Given the description of an element on the screen output the (x, y) to click on. 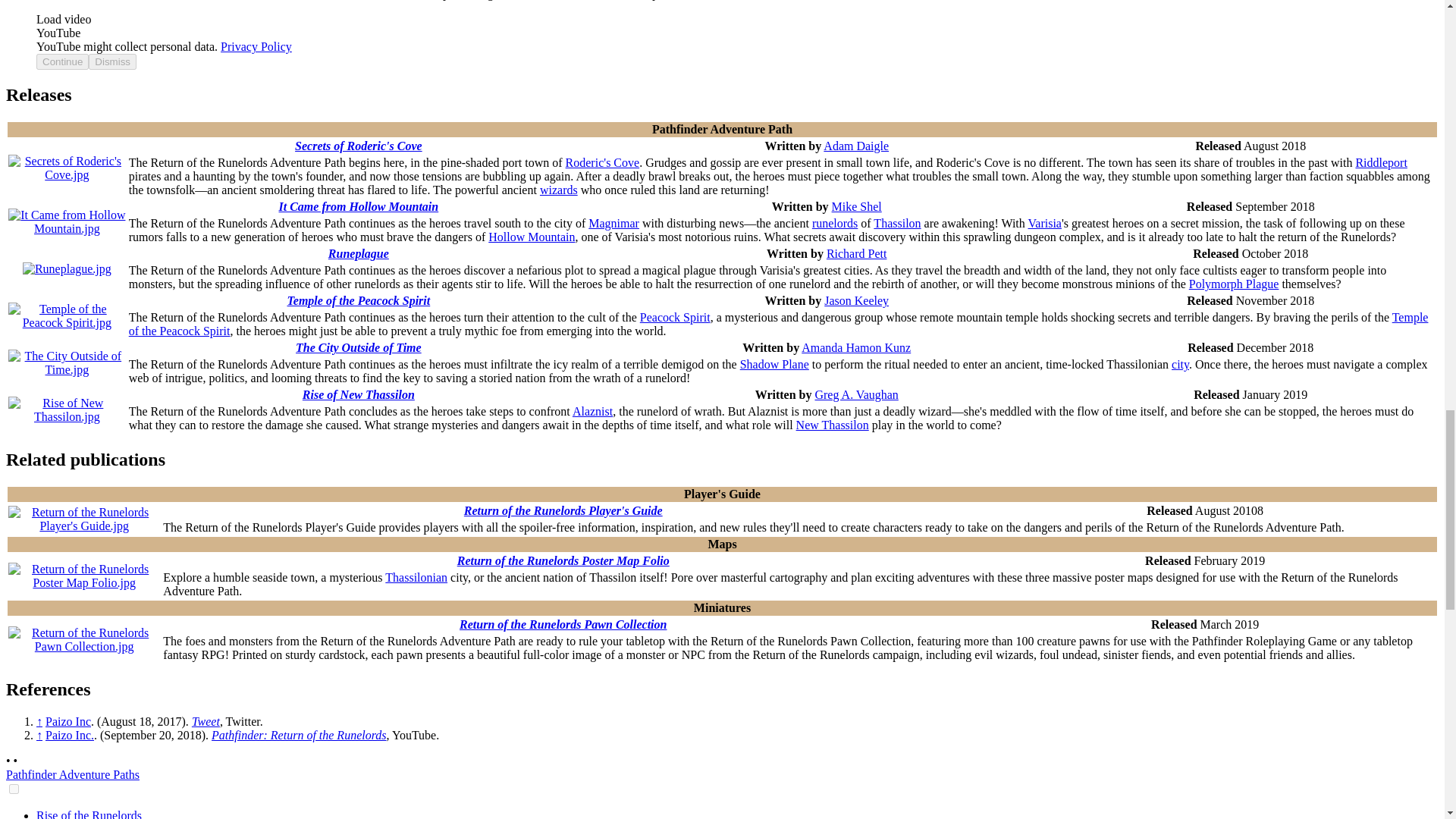
on (13, 788)
